Given the description of an element on the screen output the (x, y) to click on. 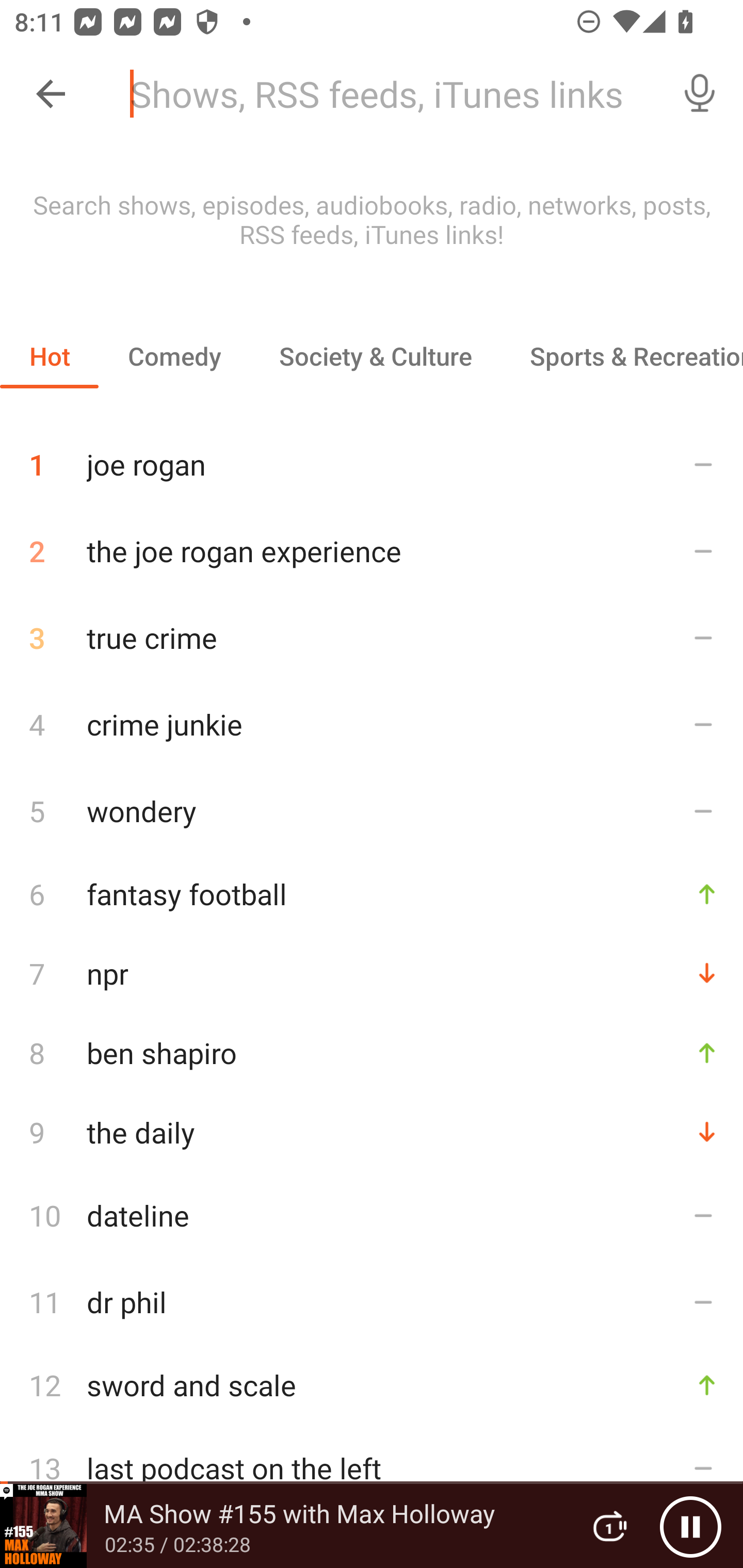
Collapse (50, 93)
Voice Search (699, 93)
Shows, RSS feeds, iTunes links (385, 94)
Hot (49, 355)
Comedy (173, 355)
Society & Culture (374, 355)
Sports & Recreation (621, 355)
1 joe rogan (371, 457)
2 the joe rogan experience (371, 551)
3 true crime (371, 637)
4 crime junkie (371, 723)
5 wondery (371, 810)
6 fantasy football (371, 893)
7 npr (371, 972)
8 ben shapiro (371, 1052)
9 the daily (371, 1131)
10 dateline (371, 1215)
11 dr phil (371, 1302)
12 sword and scale (371, 1385)
13 last podcast on the left (371, 1468)
